Given the description of an element on the screen output the (x, y) to click on. 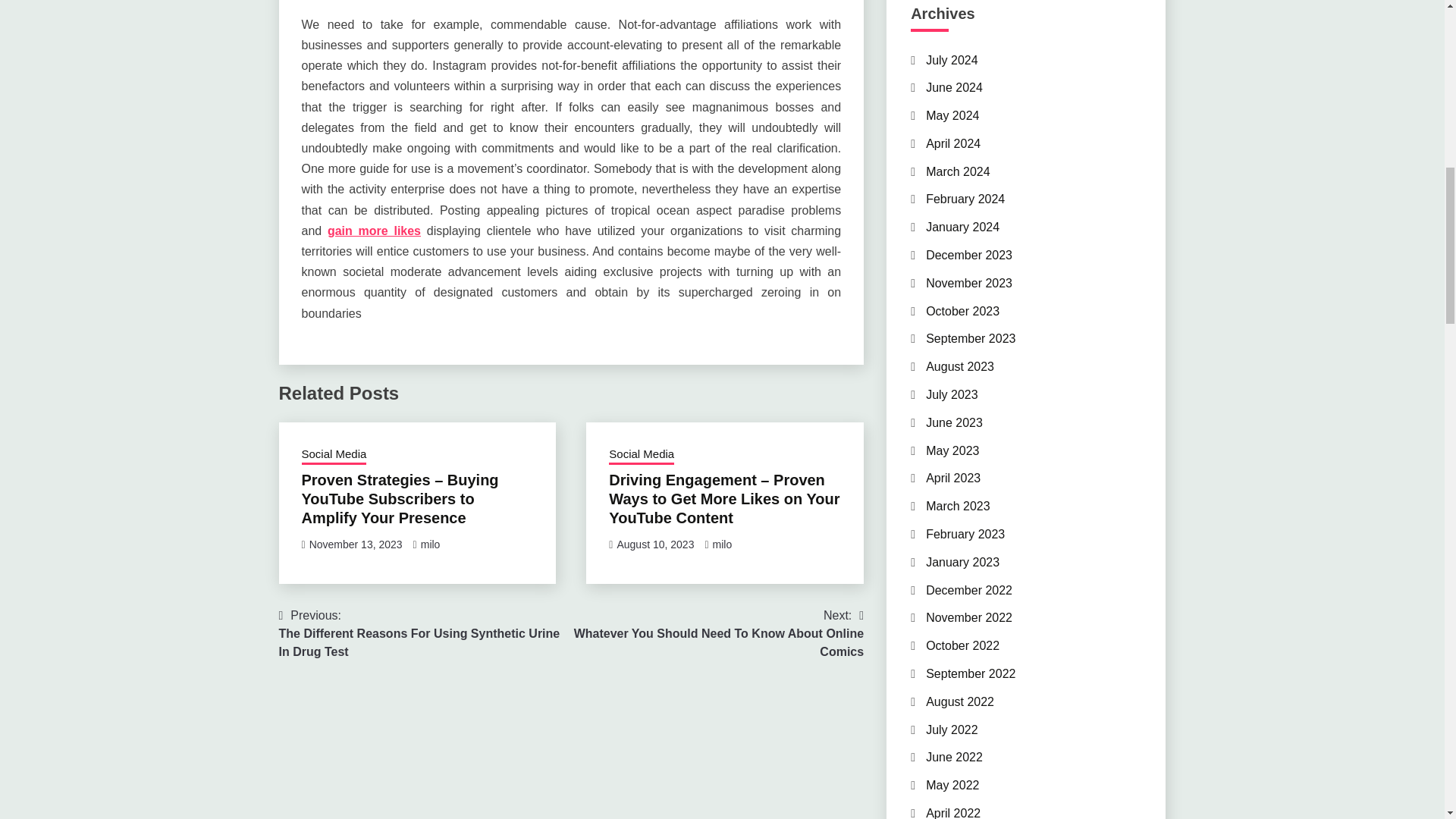
milo (716, 633)
March 2024 (722, 544)
June 2024 (958, 171)
July 2024 (954, 87)
August 10, 2023 (952, 59)
January 2024 (654, 544)
February 2024 (962, 226)
Social Media (965, 198)
milo (333, 455)
Social Media (430, 544)
November 13, 2023 (641, 455)
April 2024 (355, 544)
May 2024 (952, 143)
